Given the description of an element on the screen output the (x, y) to click on. 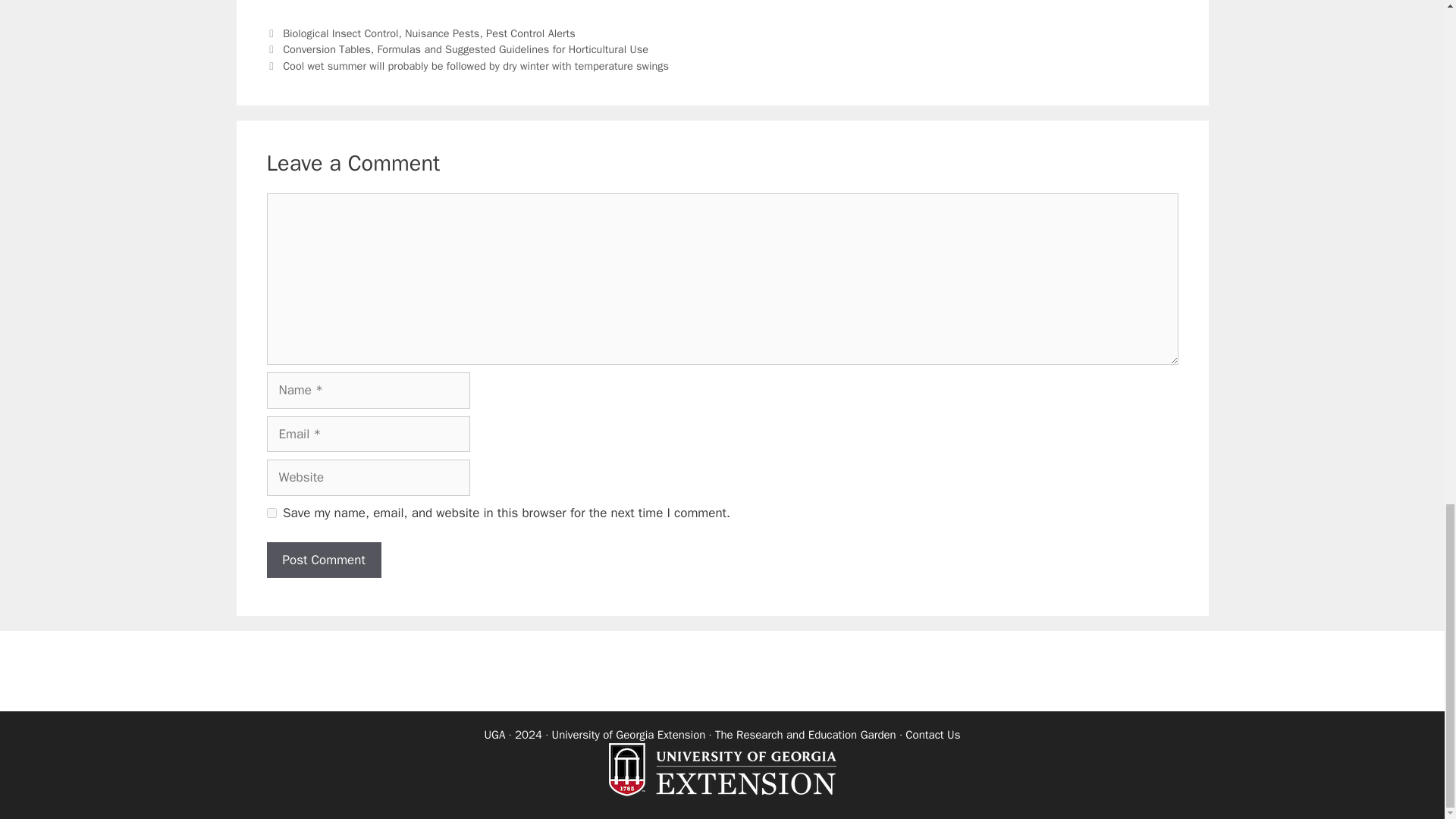
yes (271, 512)
Scroll back to top (1406, 206)
Post Comment (323, 560)
